Given the description of an element on the screen output the (x, y) to click on. 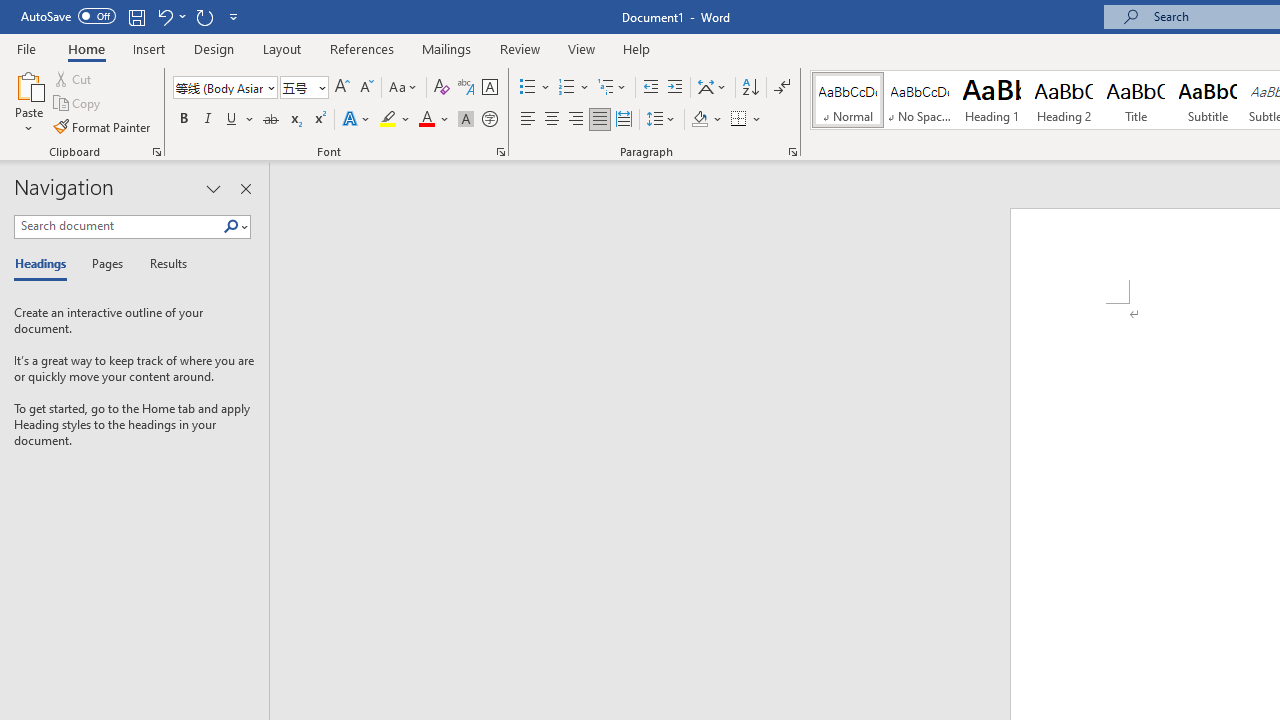
Heading 2 (1063, 100)
